Given the description of an element on the screen output the (x, y) to click on. 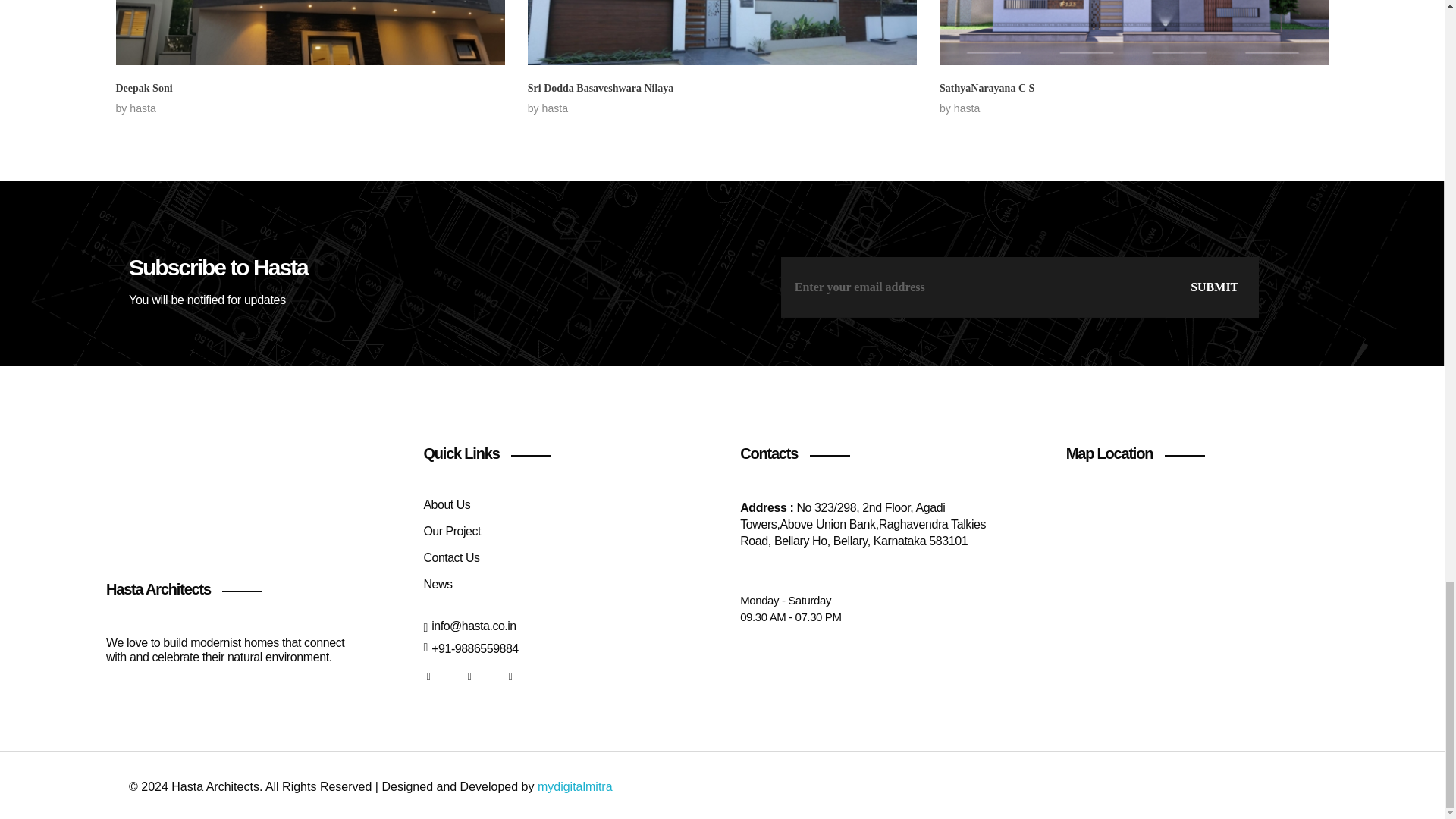
View all posts by hasta (142, 108)
hasta (554, 108)
hasta (142, 108)
mydigitalmitra (574, 786)
About Us (446, 504)
News (437, 584)
hasta (966, 108)
Sri Dodda Basaveshwara Nilaya (600, 88)
Submit (1212, 287)
Contact Us (451, 557)
